Given the description of an element on the screen output the (x, y) to click on. 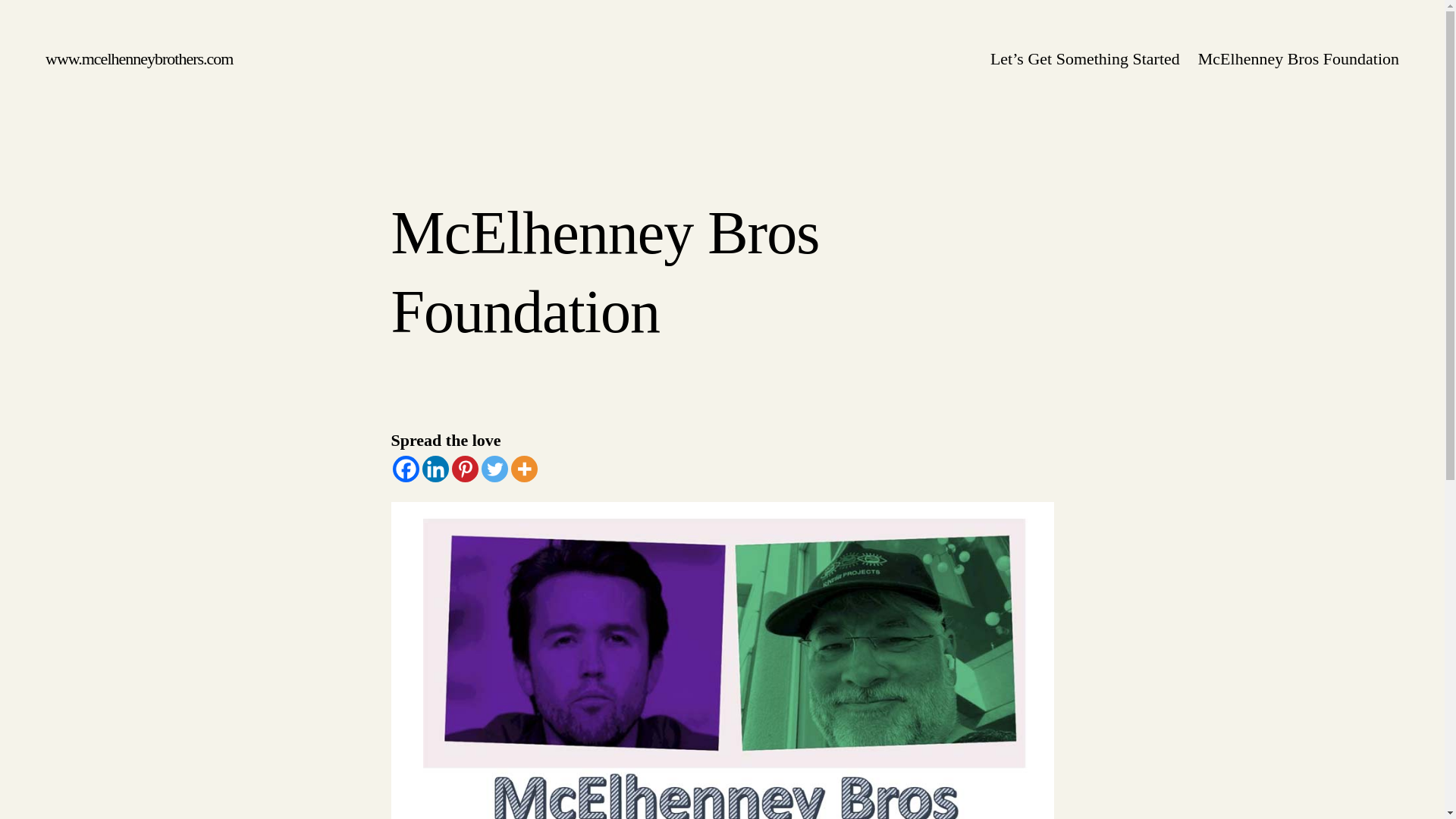
Pinterest (465, 468)
Twitter (493, 468)
Facebook (406, 468)
More (524, 468)
Linkedin (435, 468)
McElhenney Bros Foundation (1298, 58)
www.mcelhenneybrothers.com (138, 57)
